Given the description of an element on the screen output the (x, y) to click on. 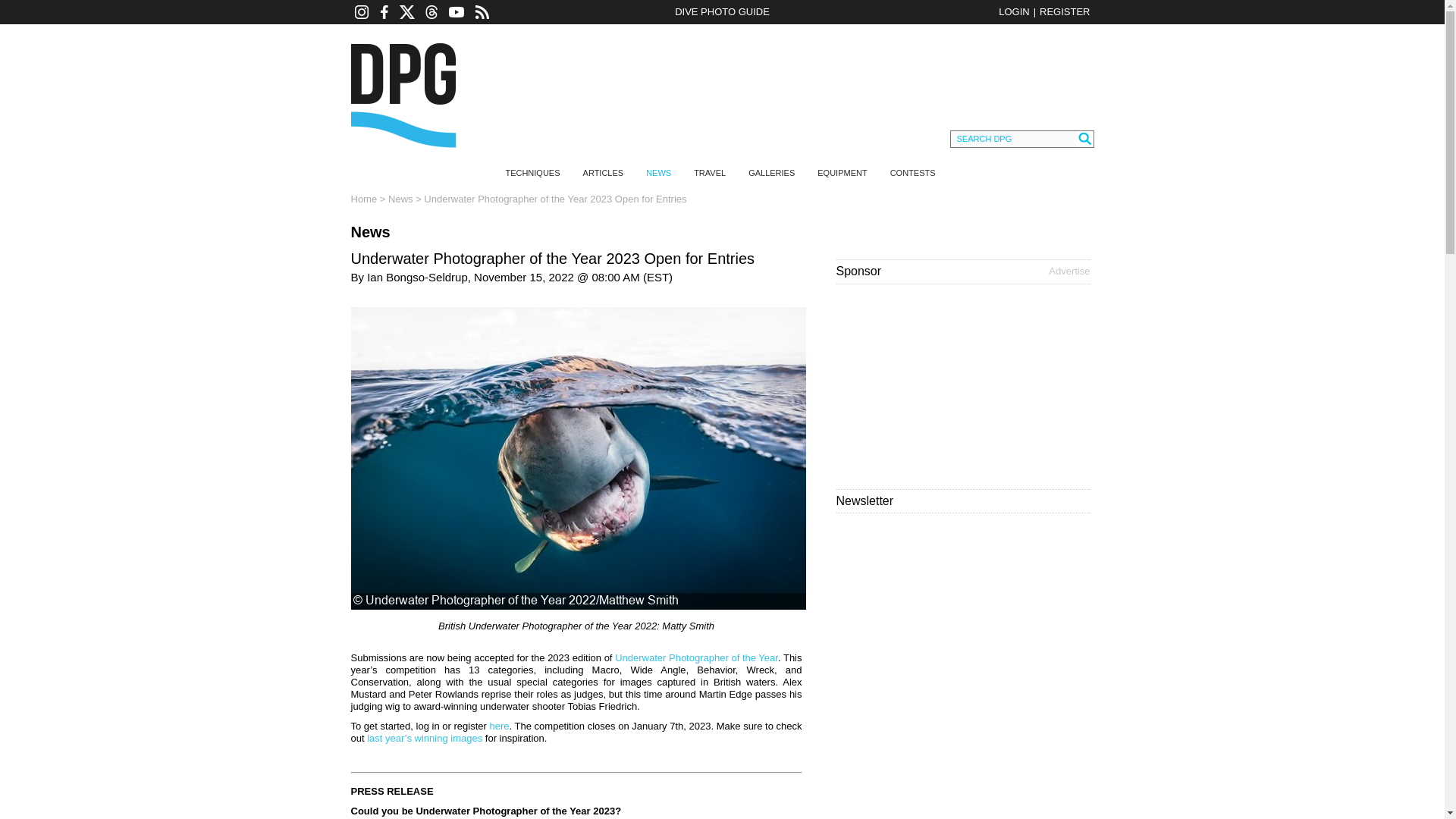
REGISTER (1064, 11)
DIVE PHOTO GUIDE (721, 12)
TECHNIQUES (532, 172)
News (400, 198)
LOGIN (1013, 11)
Home (363, 198)
Underwater Photographer of the Year (695, 657)
EQUIPMENT (841, 172)
3rd party ad content (765, 77)
NEWS (658, 172)
